Given the description of an element on the screen output the (x, y) to click on. 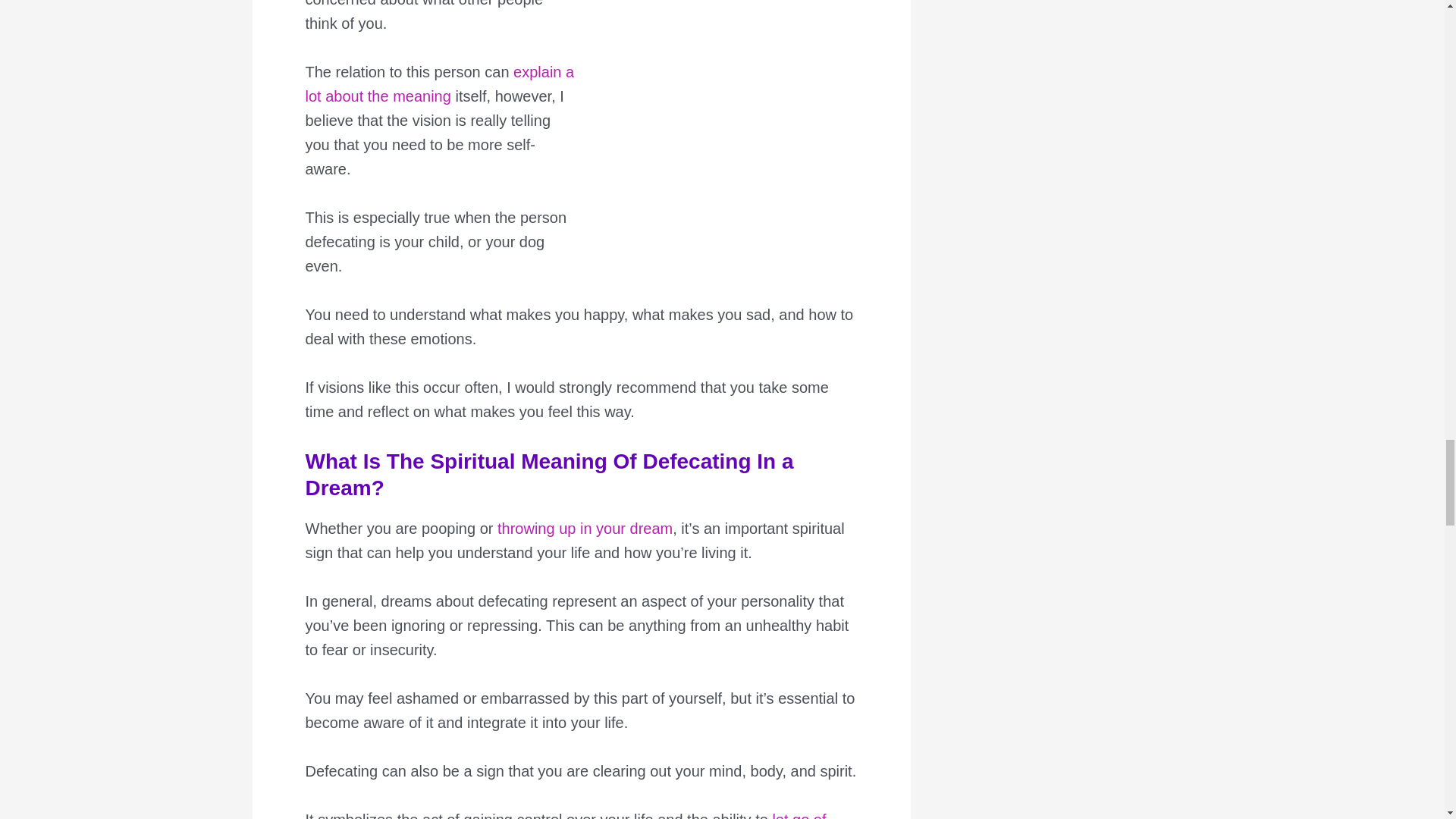
throwing up in your dream (584, 528)
explain a lot about the meaning (438, 83)
let go of things that no longer serve your highest good (564, 815)
